Given the description of an element on the screen output the (x, y) to click on. 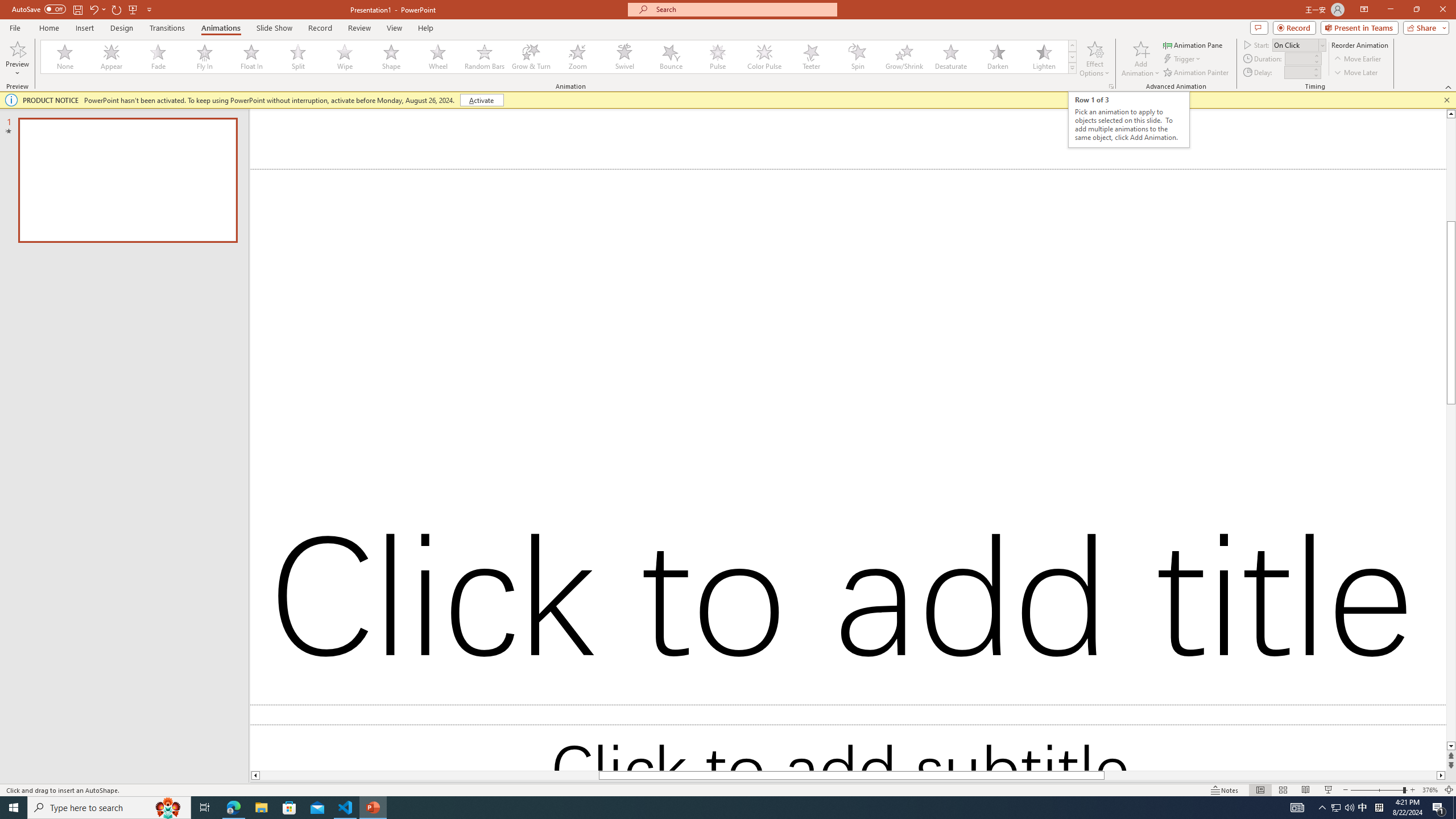
Preview (17, 58)
Grow & Turn (531, 56)
Move Earlier (1357, 58)
Spin (857, 56)
Animation Duration (1298, 58)
Grow/Shrink (903, 56)
Animation Pane (1193, 44)
